Given the description of an element on the screen output the (x, y) to click on. 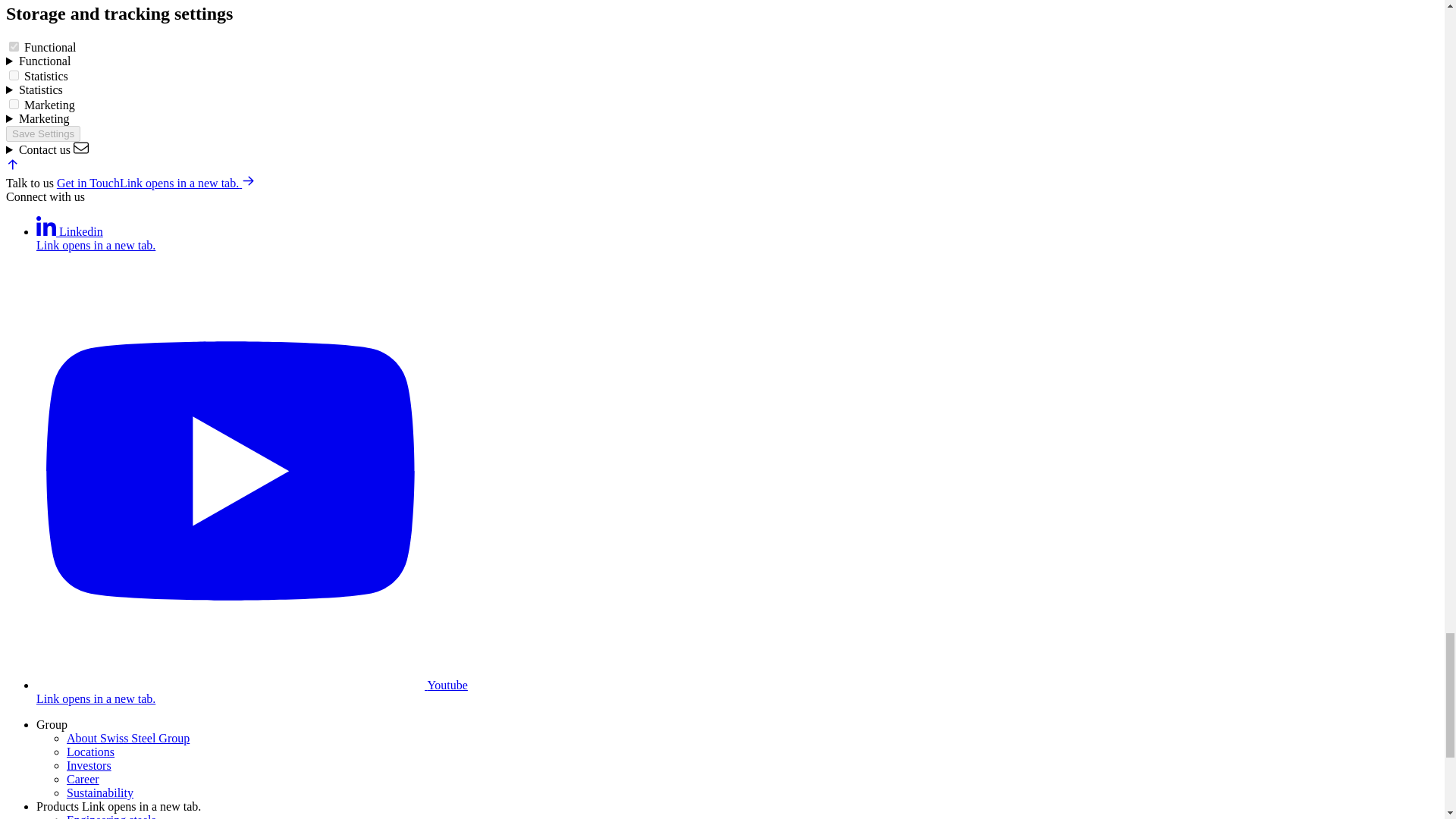
marketing (13, 103)
necessary (13, 46)
analytics (13, 75)
